Given the description of an element on the screen output the (x, y) to click on. 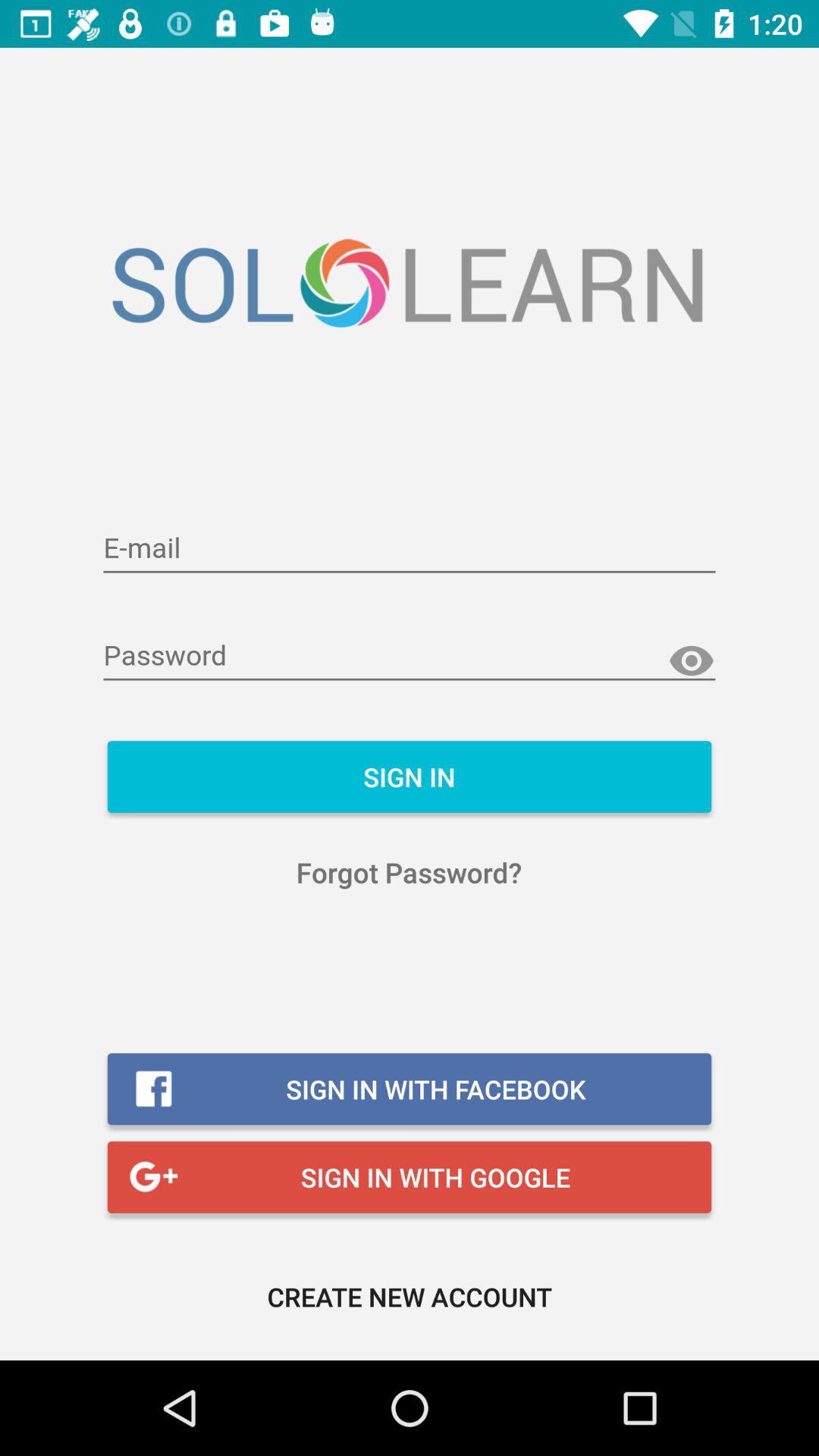
write password (409, 656)
